Given the description of an element on the screen output the (x, y) to click on. 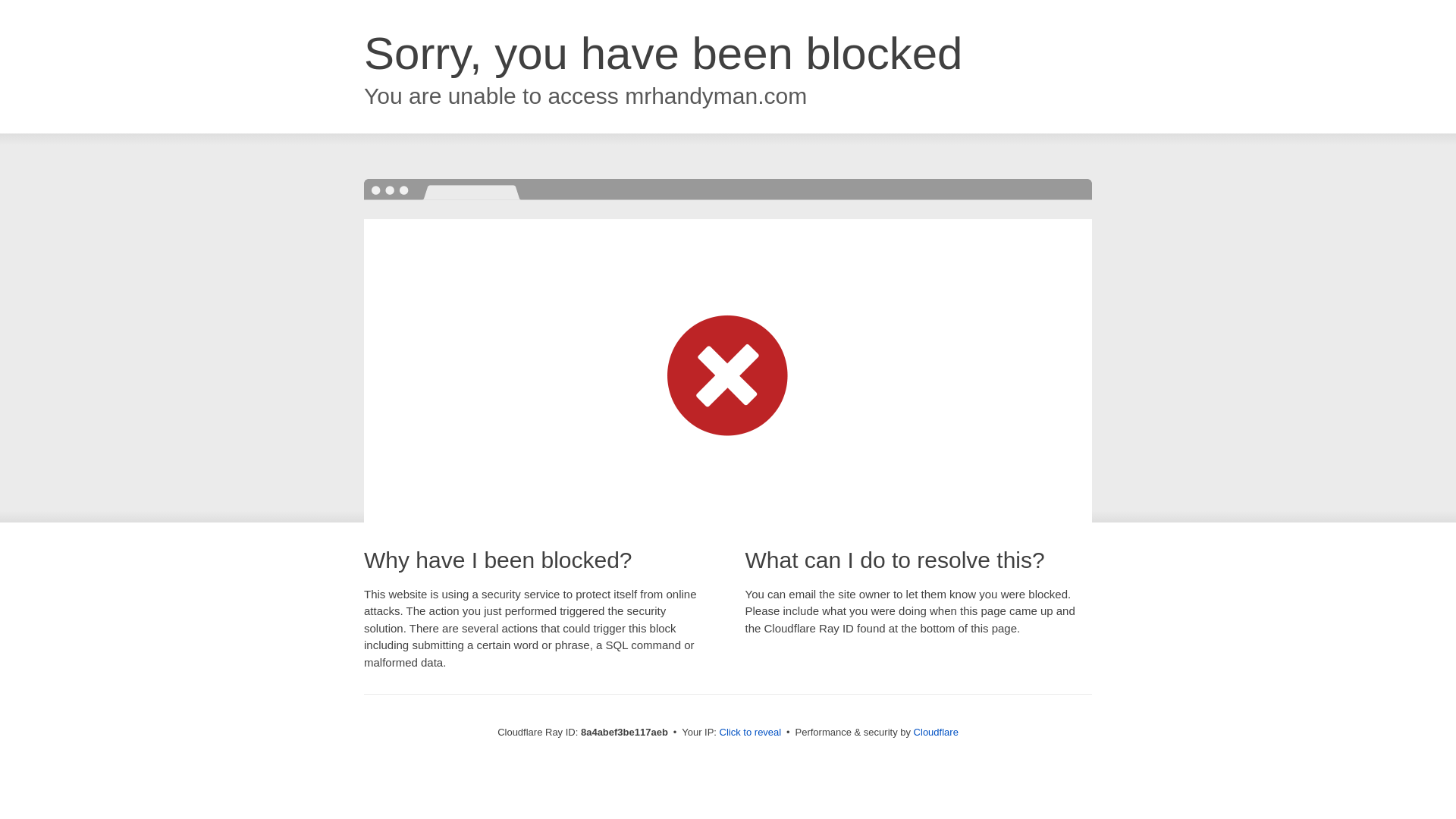
Click to reveal (750, 732)
Cloudflare (936, 731)
